Given the description of an element on the screen output the (x, y) to click on. 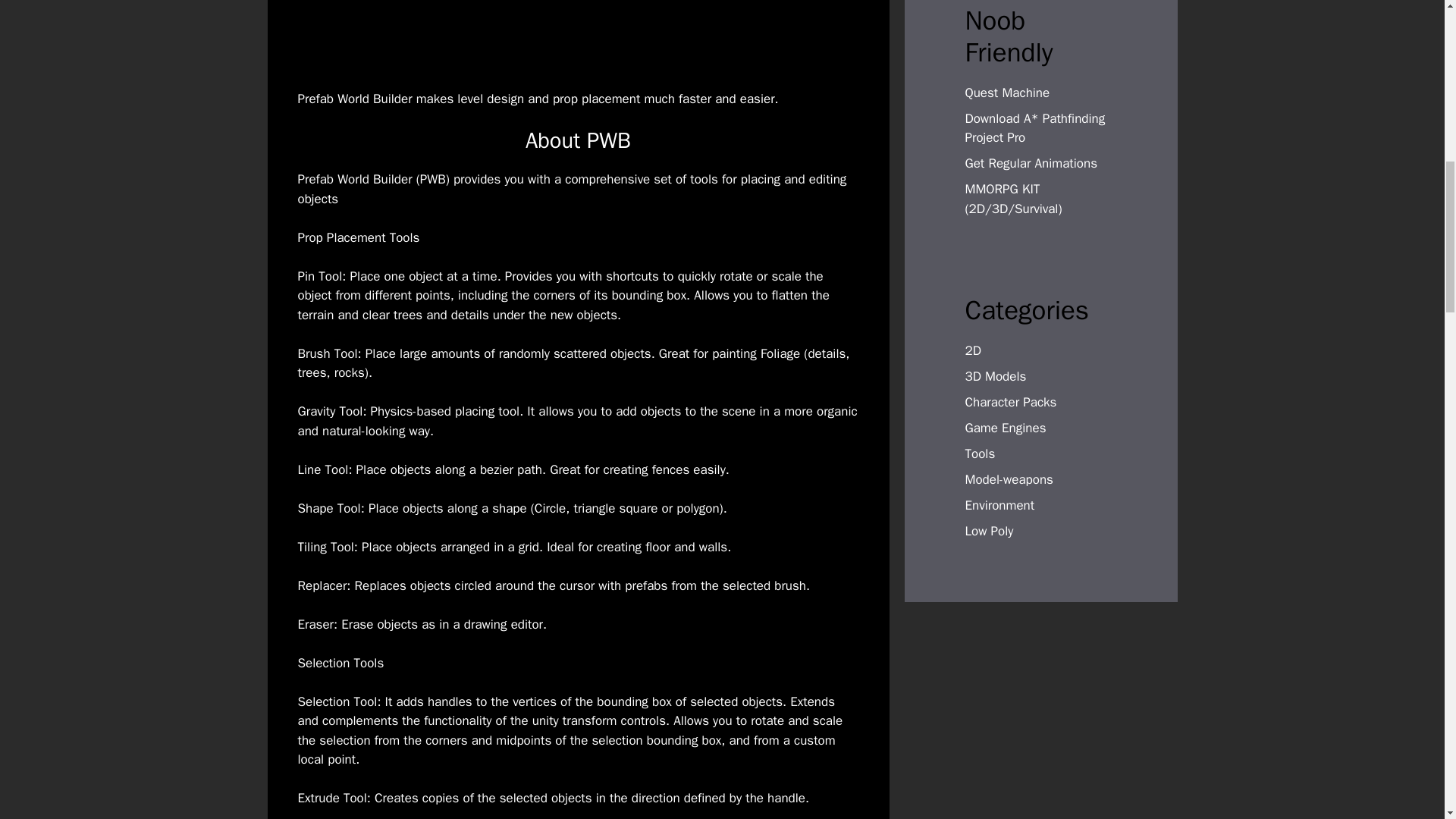
Get Regular Animations (1030, 163)
Scroll back to top (1406, 720)
Quest Machine (1006, 92)
